Given the description of an element on the screen output the (x, y) to click on. 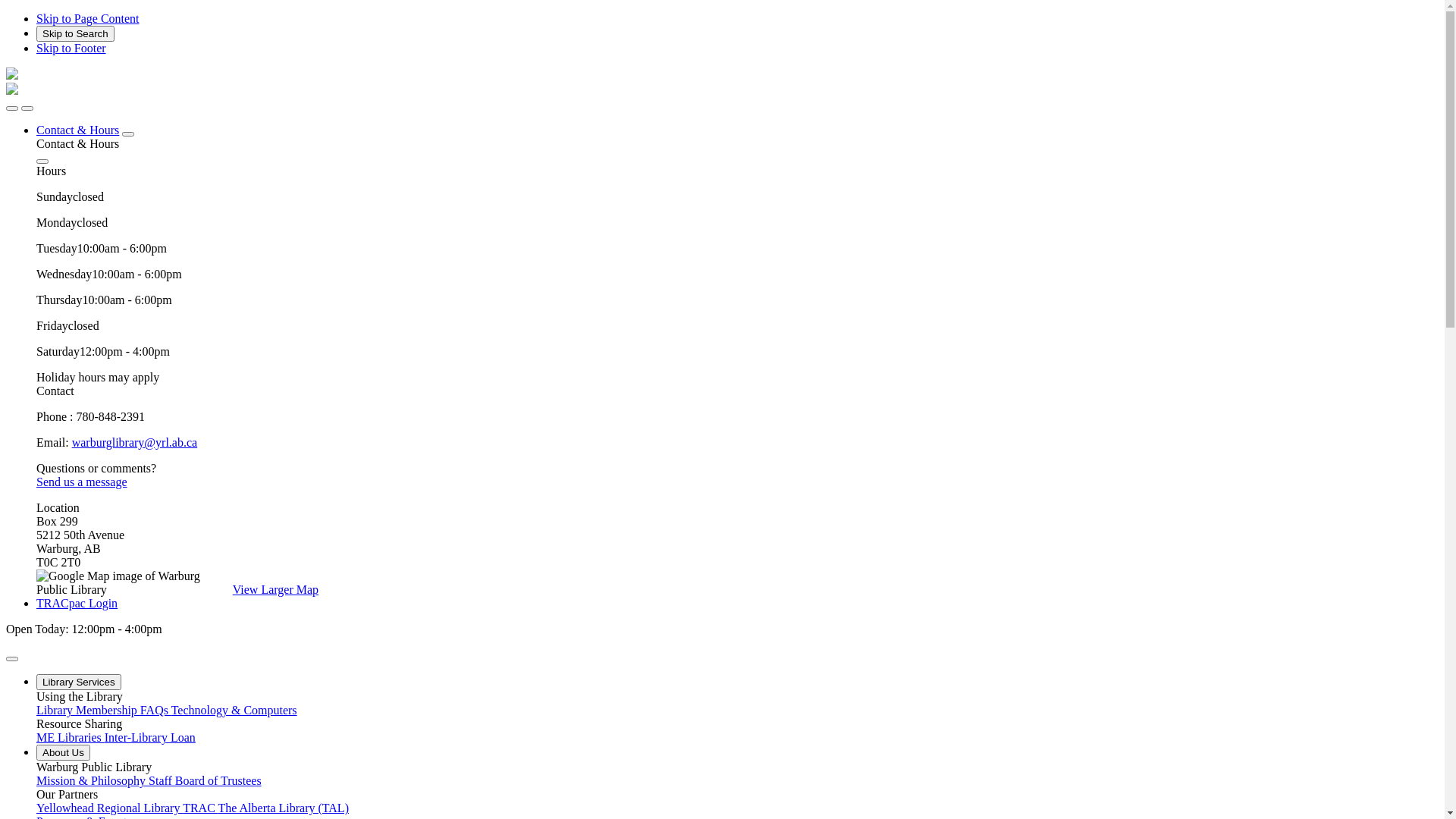
Contact & Hours Element type: text (77, 129)
FAQs Element type: text (155, 709)
Warburg Public Library Element type: hover (12, 90)
Board of Trustees Element type: text (218, 780)
ME Libraries Element type: text (70, 737)
About Us Element type: text (63, 752)
The Alberta Library (TAL) Element type: text (283, 807)
Staff Element type: text (161, 780)
TRACpac Login Element type: text (76, 602)
Skip to Page Content Element type: text (87, 18)
Yellowhead Regional Library Element type: text (109, 807)
Skip to Search Element type: text (75, 33)
Technology & Computers Element type: text (234, 709)
Send us a message Element type: text (81, 481)
TRAC Element type: text (199, 807)
Library Services Element type: text (78, 682)
warburglibrary@yrl.ab.ca Element type: text (134, 442)
Skip to Footer Element type: text (71, 47)
View Larger Map Element type: text (275, 589)
Inter-Library Loan Element type: text (149, 737)
Mission & Philosophy Element type: text (92, 780)
Library Membership Element type: text (88, 709)
